Given the description of an element on the screen output the (x, y) to click on. 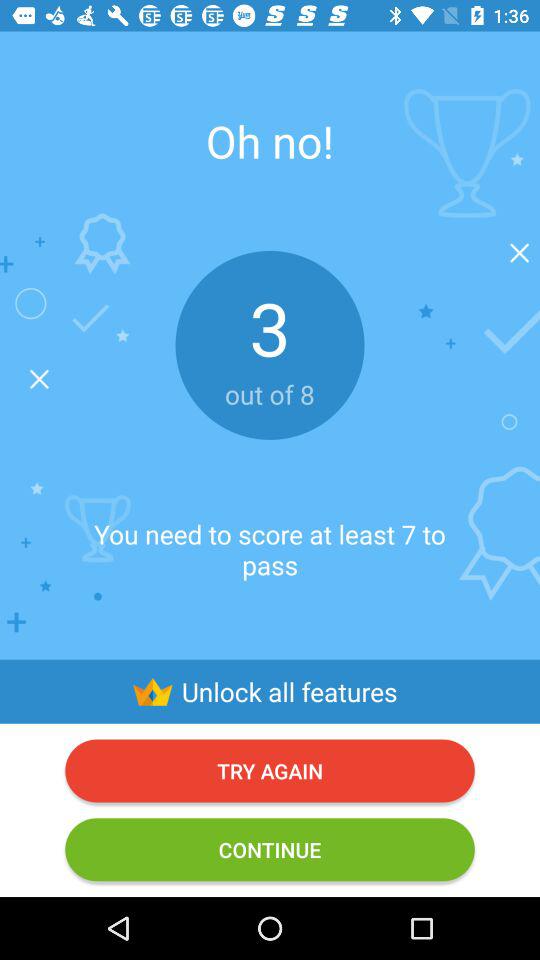
choose try again (269, 770)
